Given the description of an element on the screen output the (x, y) to click on. 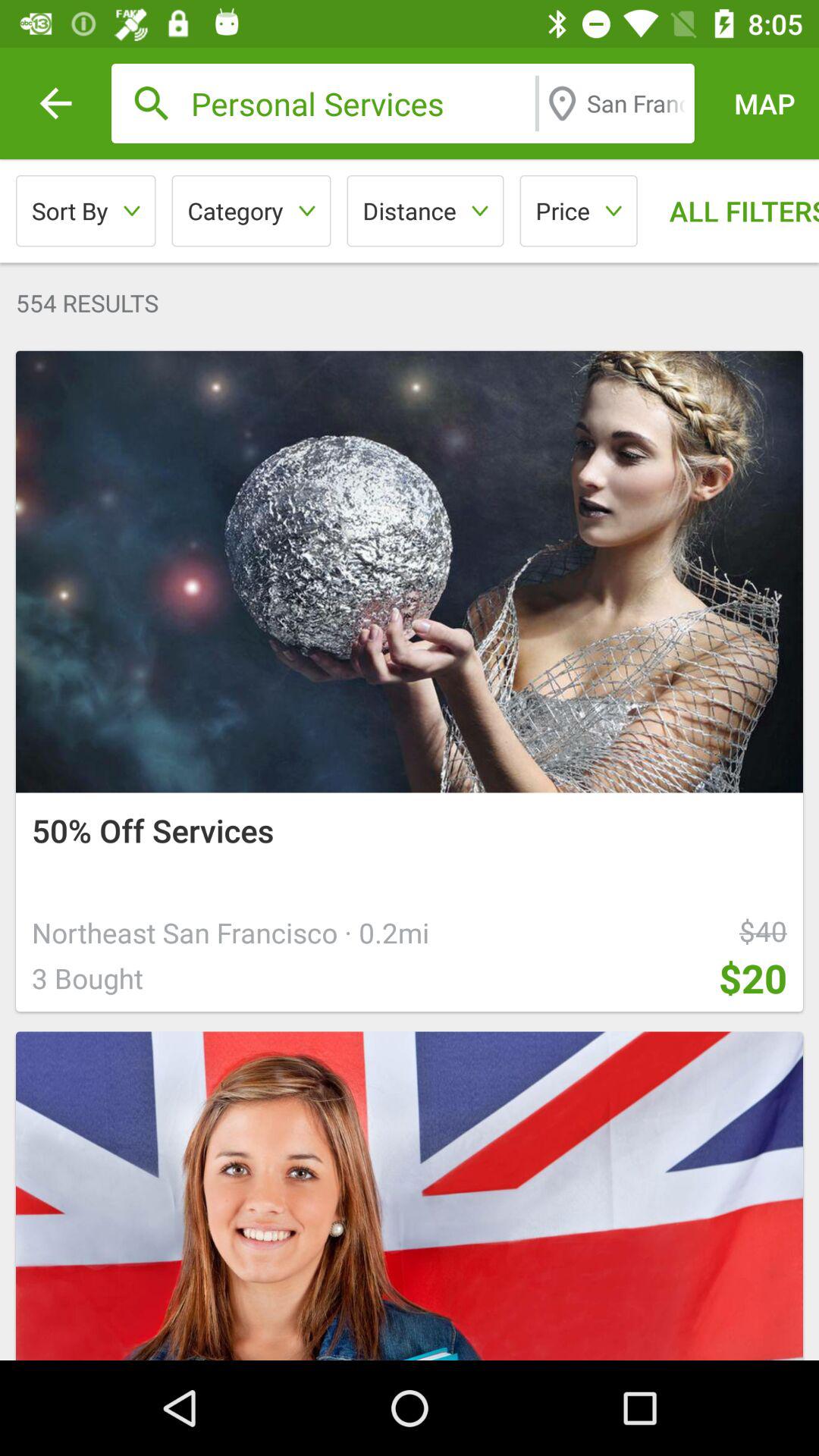
launch icon above all filters icon (764, 103)
